Given the description of an element on the screen output the (x, y) to click on. 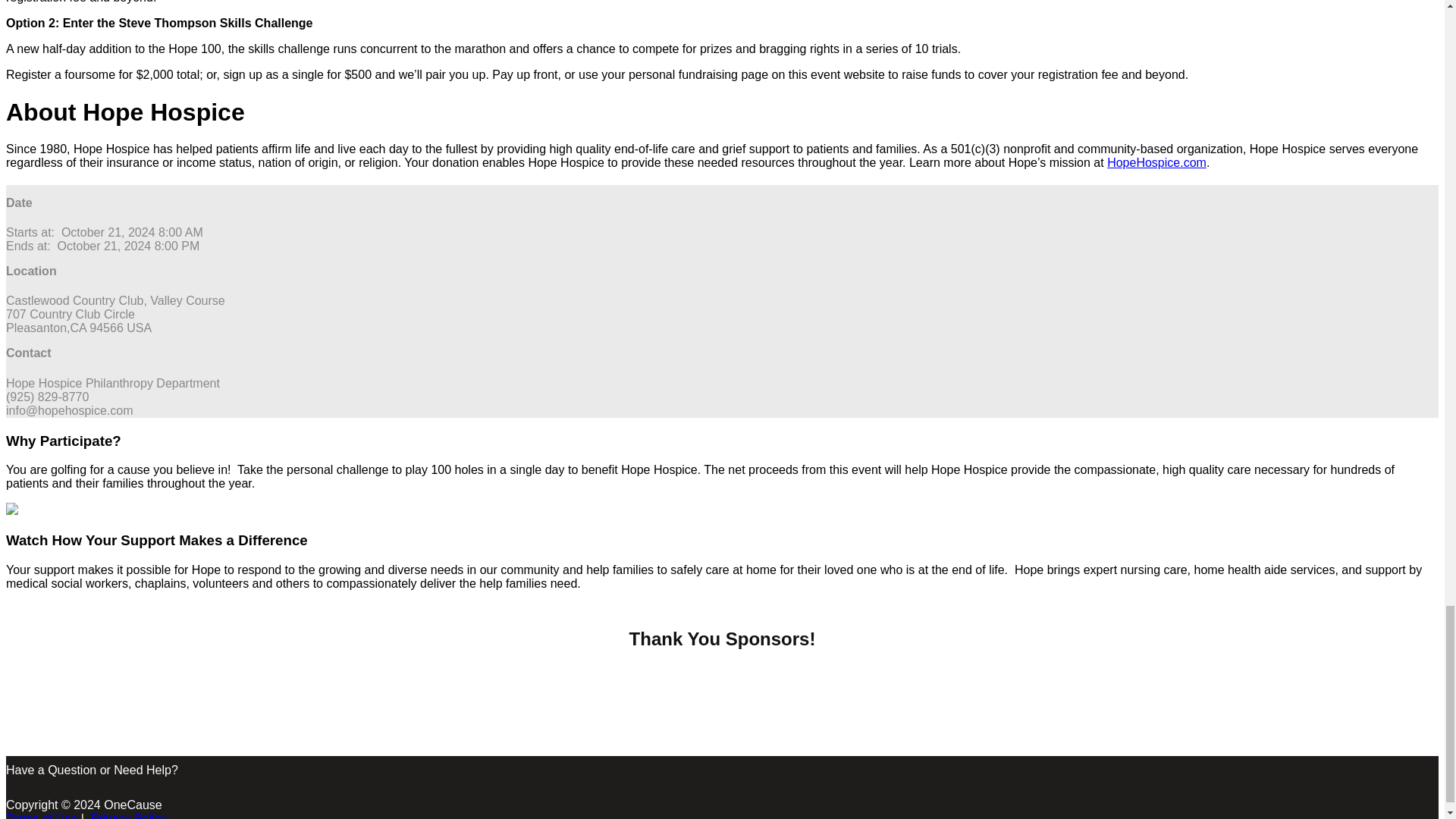
Have a Question or Need Help? (91, 769)
HopeHospice.com (1156, 162)
